Given the description of an element on the screen output the (x, y) to click on. 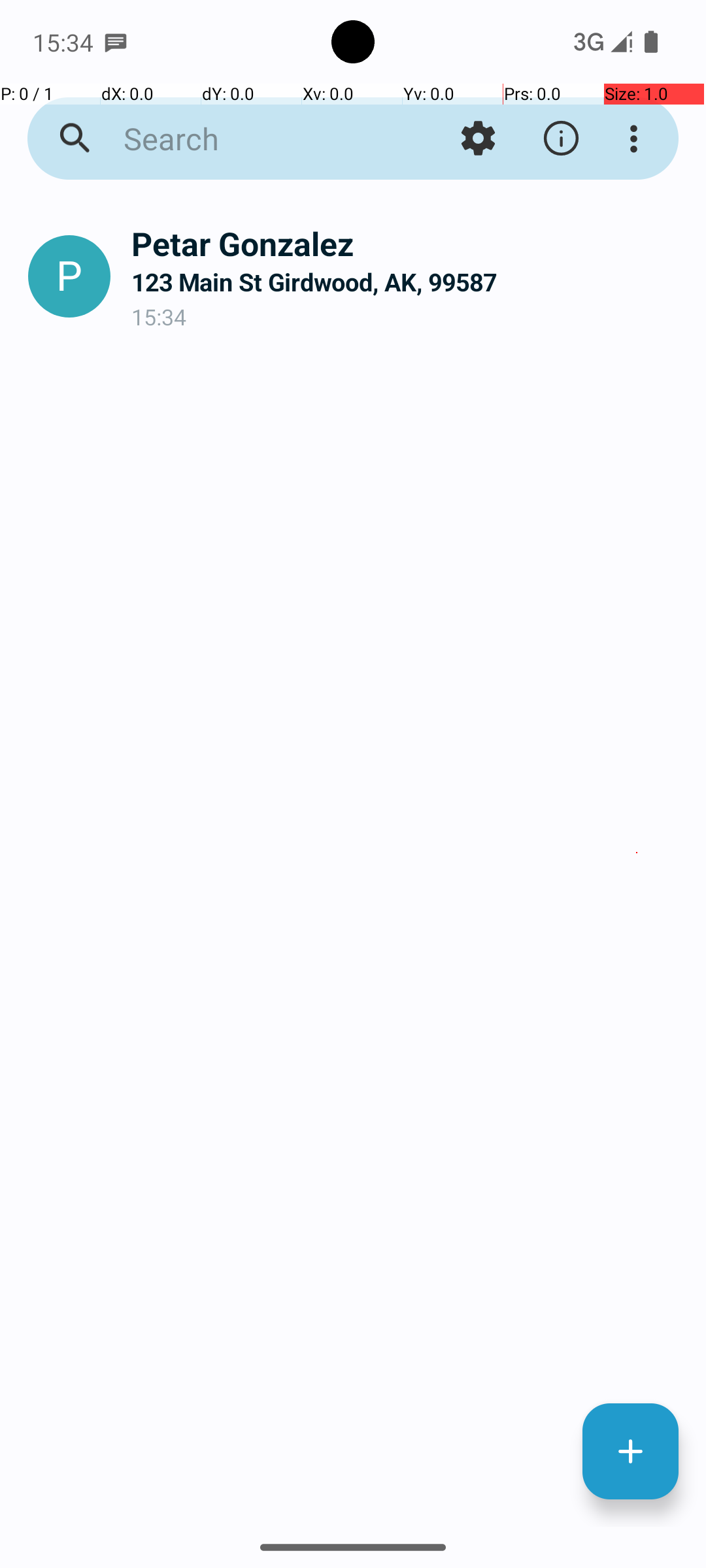
Petar Gonzalez Element type: android.widget.TextView (408, 242)
123 Main St Girdwood, AK, 99587 Element type: android.widget.TextView (408, 281)
